Given the description of an element on the screen output the (x, y) to click on. 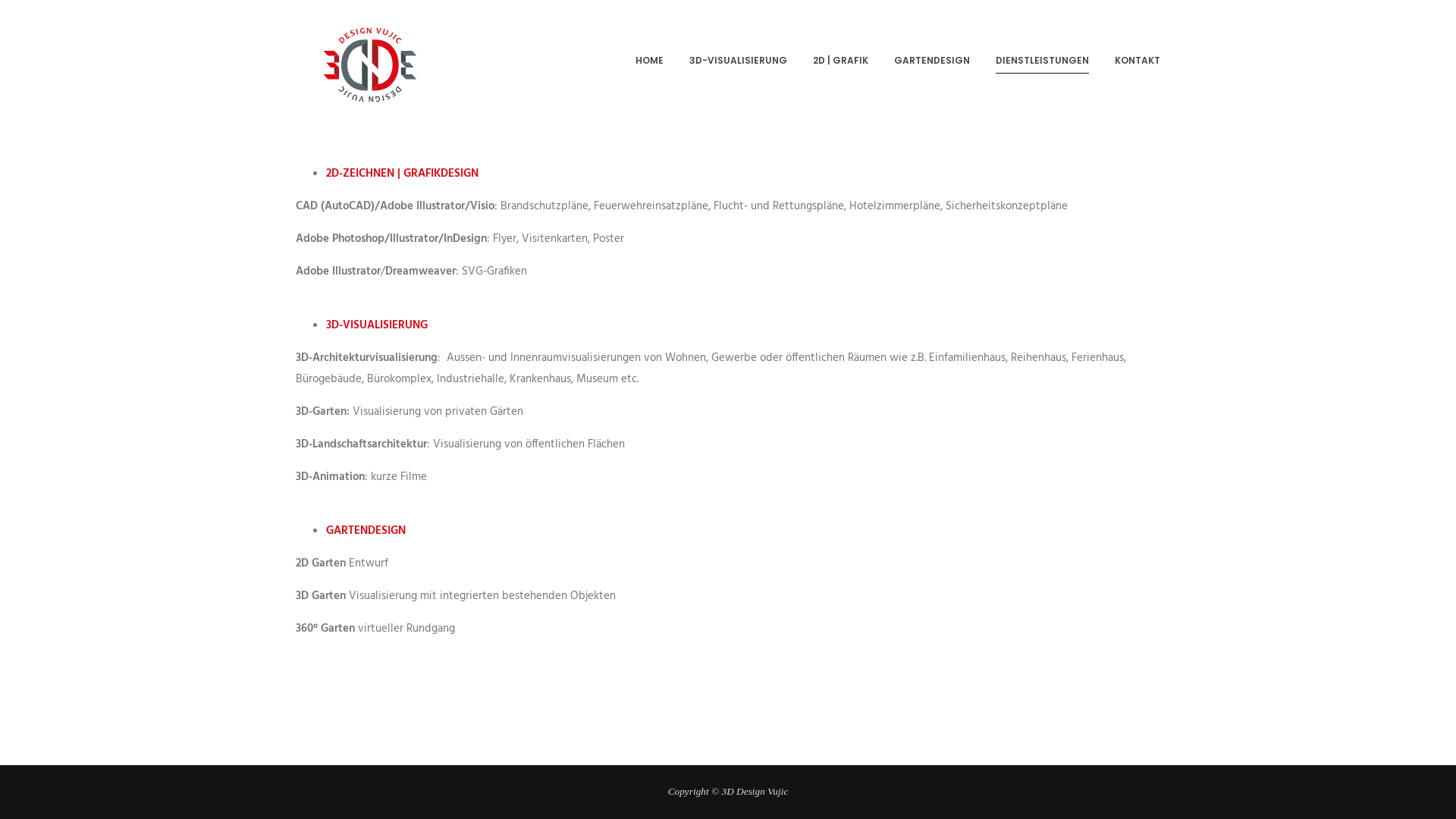
GARTENDESIGN Element type: text (931, 59)
3D-VISUALISIERUNG Element type: text (738, 59)
HOME Element type: text (649, 59)
2D | GRAFIK Element type: text (840, 59)
KONTAKT Element type: text (1137, 59)
DIENSTLEISTUNGEN Element type: text (1041, 59)
